Given the description of an element on the screen output the (x, y) to click on. 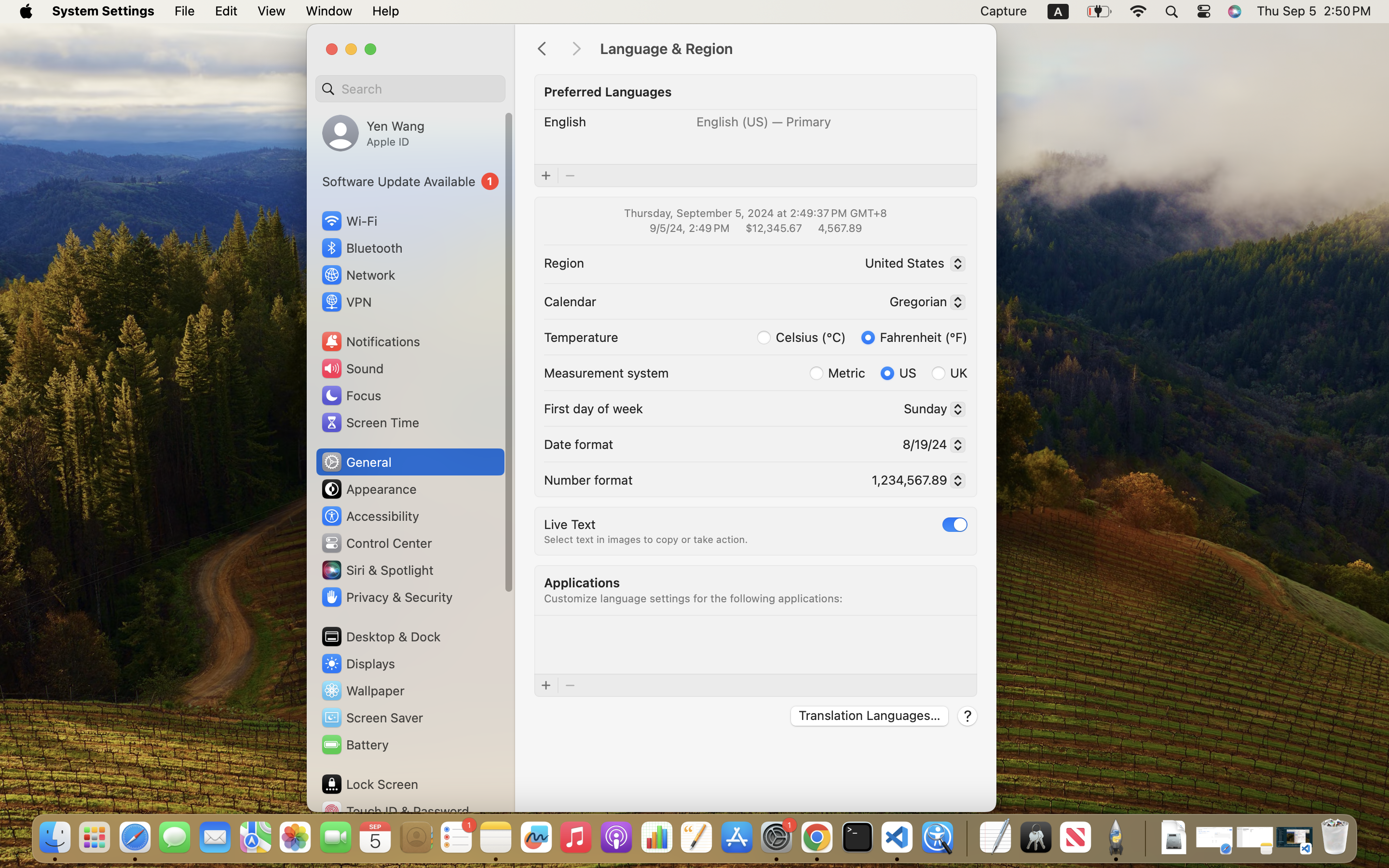
Sunday Element type: AXPopUpButton (930, 410)
1 Element type: AXStaticText (410, 180)
Lock Screen Element type: AXStaticText (369, 783)
Calendar Element type: AXStaticText (570, 300)
1,234,567.89 Element type: AXPopUpButton (914, 481)
